Given the description of an element on the screen output the (x, y) to click on. 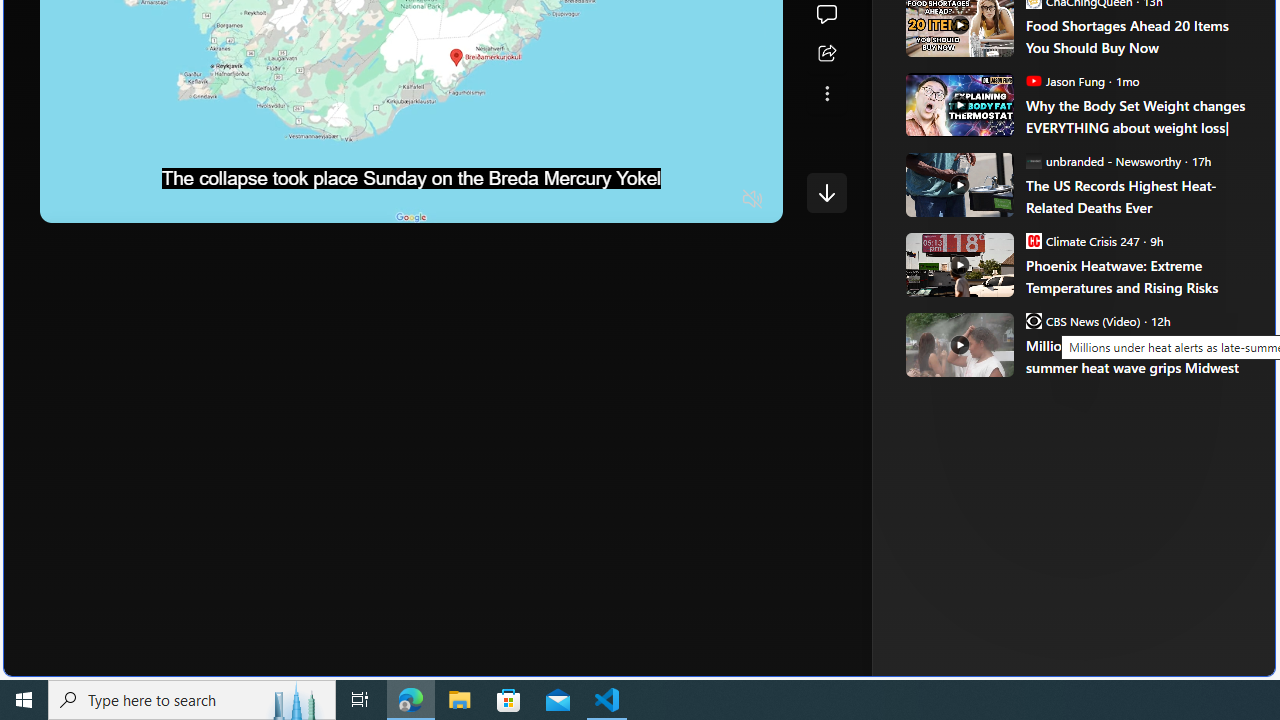
Fullscreen (714, 200)
Share this story (826, 53)
Unmute (753, 200)
CBS News (Video) CBS News (Video) (1082, 320)
Captions (675, 200)
Climate Crisis 247 (1033, 240)
Seek Forward (150, 200)
